Given the description of an element on the screen output the (x, y) to click on. 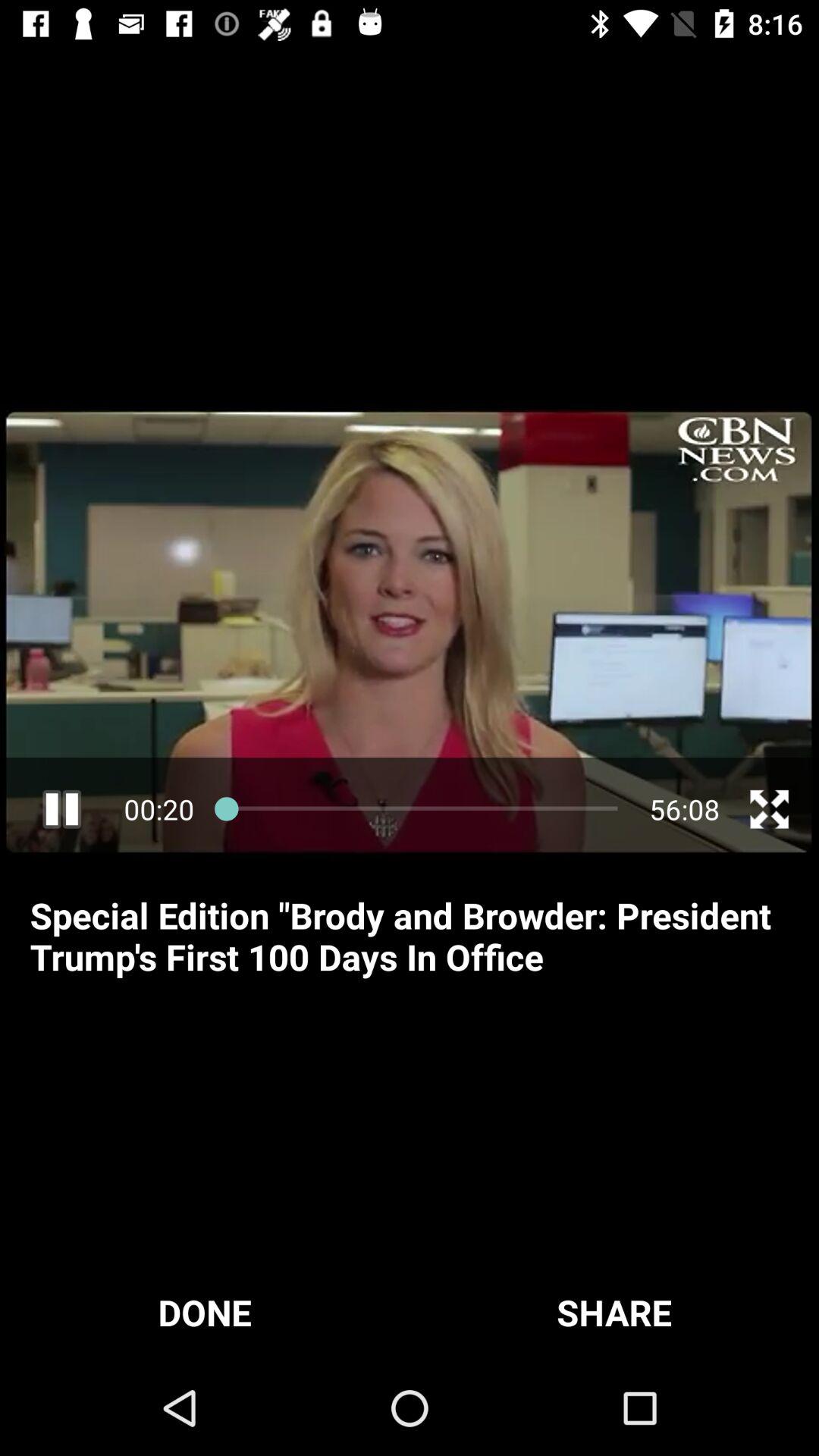
open fullscreen (769, 809)
